Given the description of an element on the screen output the (x, y) to click on. 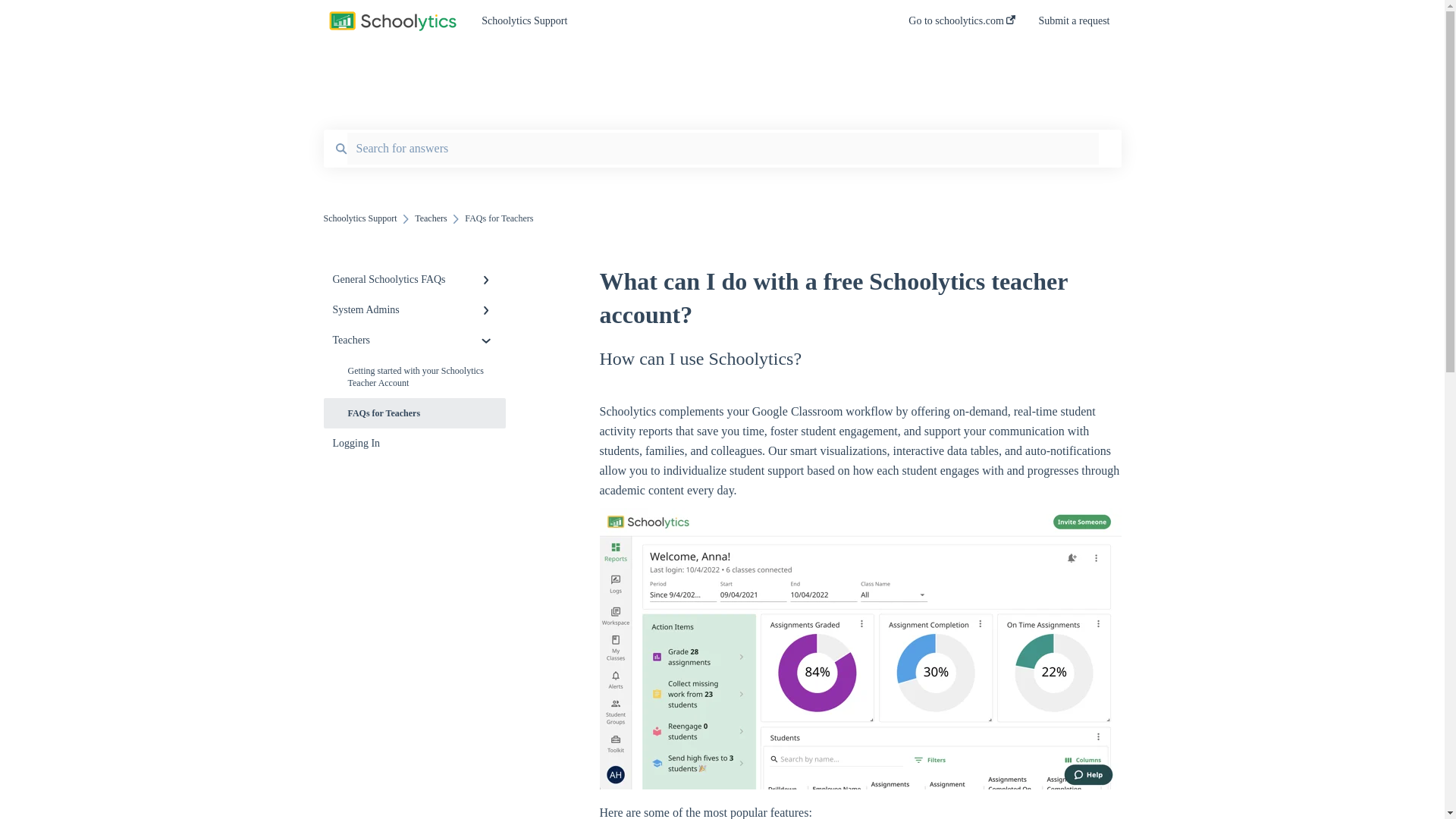
Schoolytics Support (672, 21)
Go to schoolytics.com (961, 25)
System Admins (414, 309)
FAQs for Teachers (414, 413)
Teachers (430, 217)
Logging In (414, 443)
Schoolytics Support (359, 217)
Teachers (414, 340)
General Schoolytics FAQs (414, 279)
Getting started with your Schoolytics Teacher Account (414, 376)
Submit a request (1073, 25)
